Given the description of an element on the screen output the (x, y) to click on. 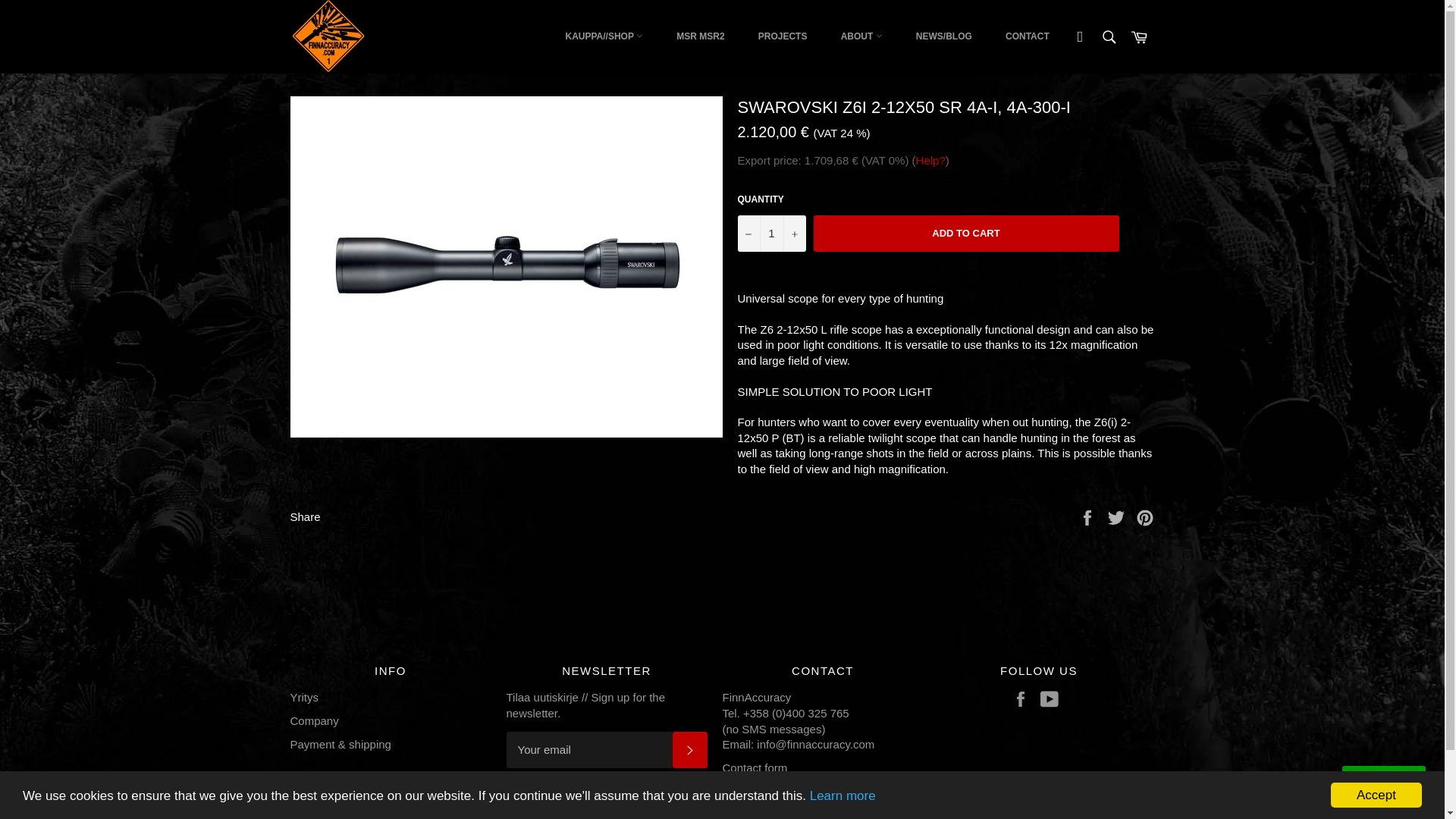
1 (770, 233)
FinnAccuracy on YouTube (1053, 699)
Share on Facebook (1088, 516)
FinnAccuracy on Facebook (1023, 699)
Tweet on Twitter (1117, 516)
Pin on Pinterest (1144, 516)
